Given the description of an element on the screen output the (x, y) to click on. 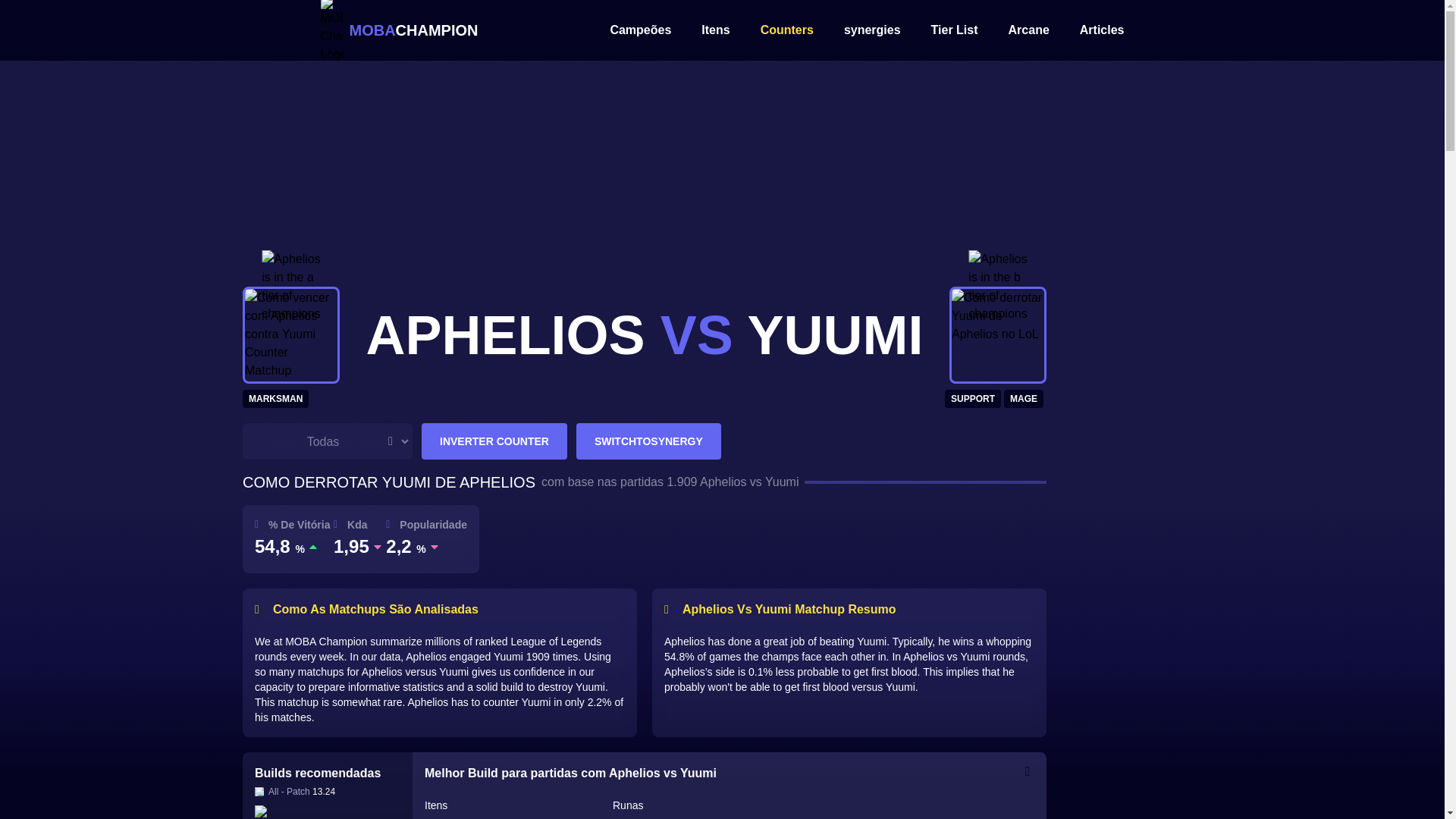
MOBACHAMPION (398, 31)
Counters (786, 30)
INVERTER COUNTER (494, 441)
SWITCHTOSYNERGY (648, 441)
Arcane (1029, 30)
Itens (715, 30)
Tier List (954, 30)
Articles (1102, 30)
synergies (872, 30)
